Given the description of an element on the screen output the (x, y) to click on. 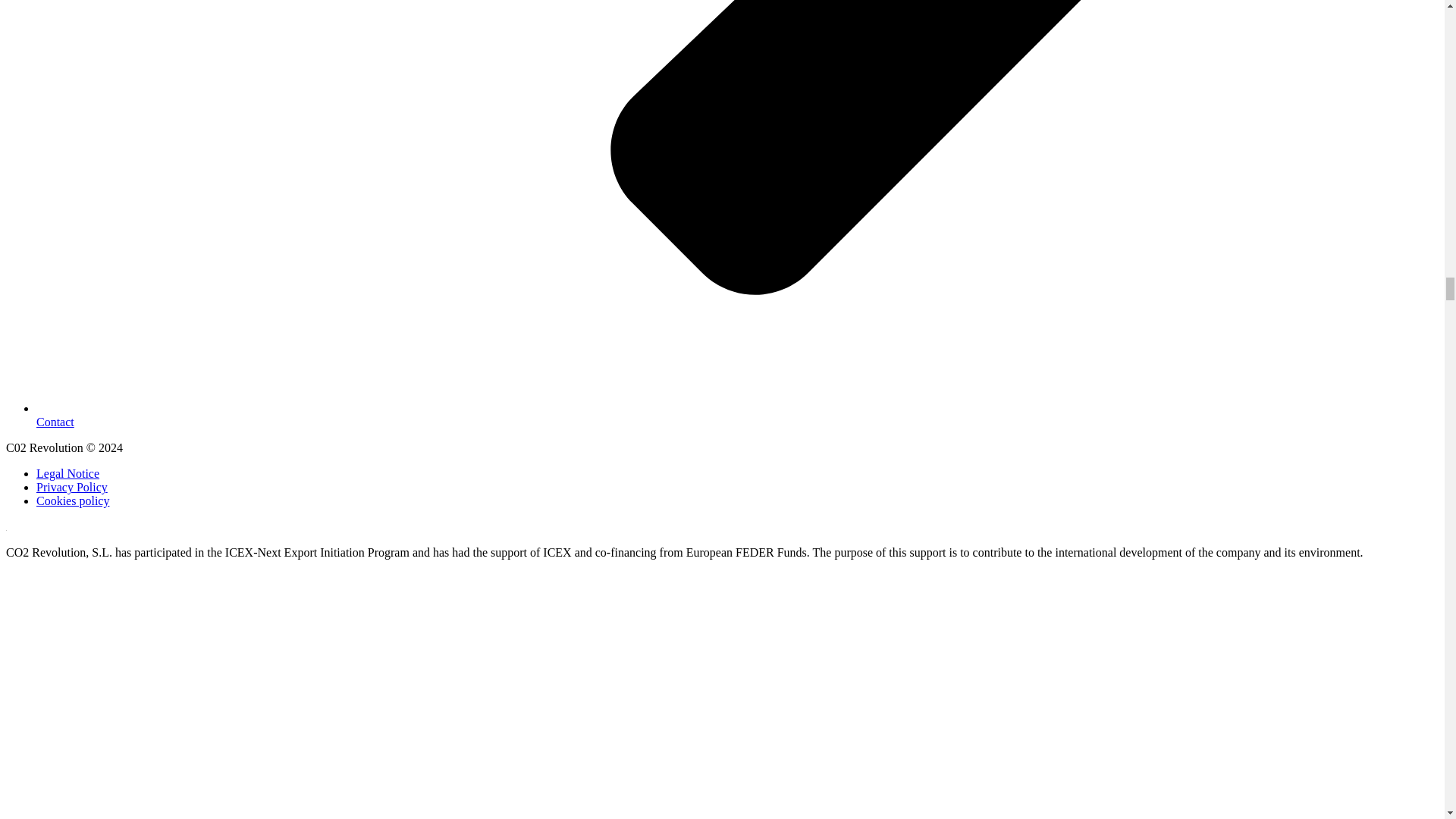
Privacy Policy (71, 486)
Legal Notice (67, 472)
Cookies policy (72, 500)
